Given the description of an element on the screen output the (x, y) to click on. 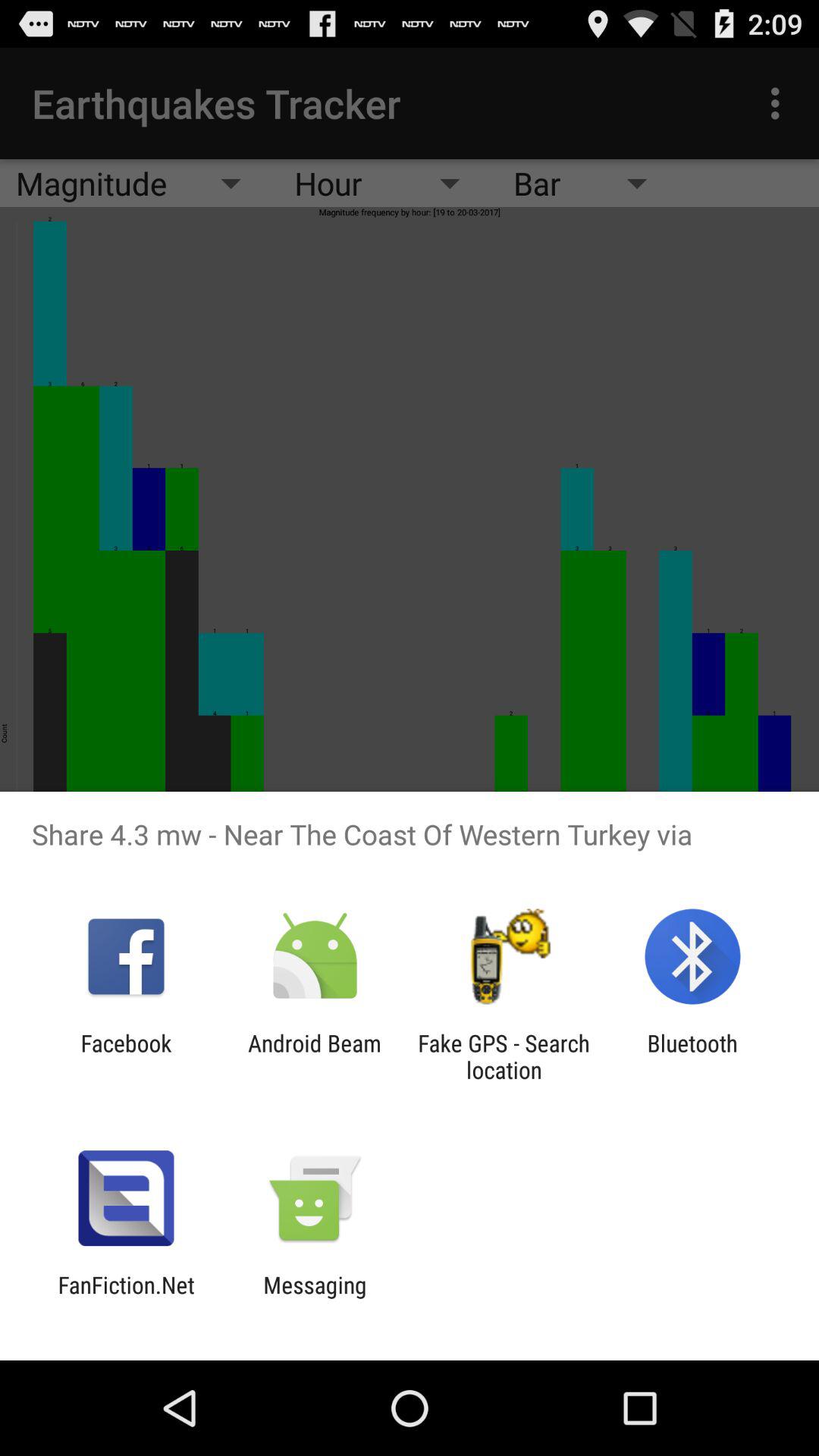
swipe to messaging icon (314, 1298)
